Given the description of an element on the screen output the (x, y) to click on. 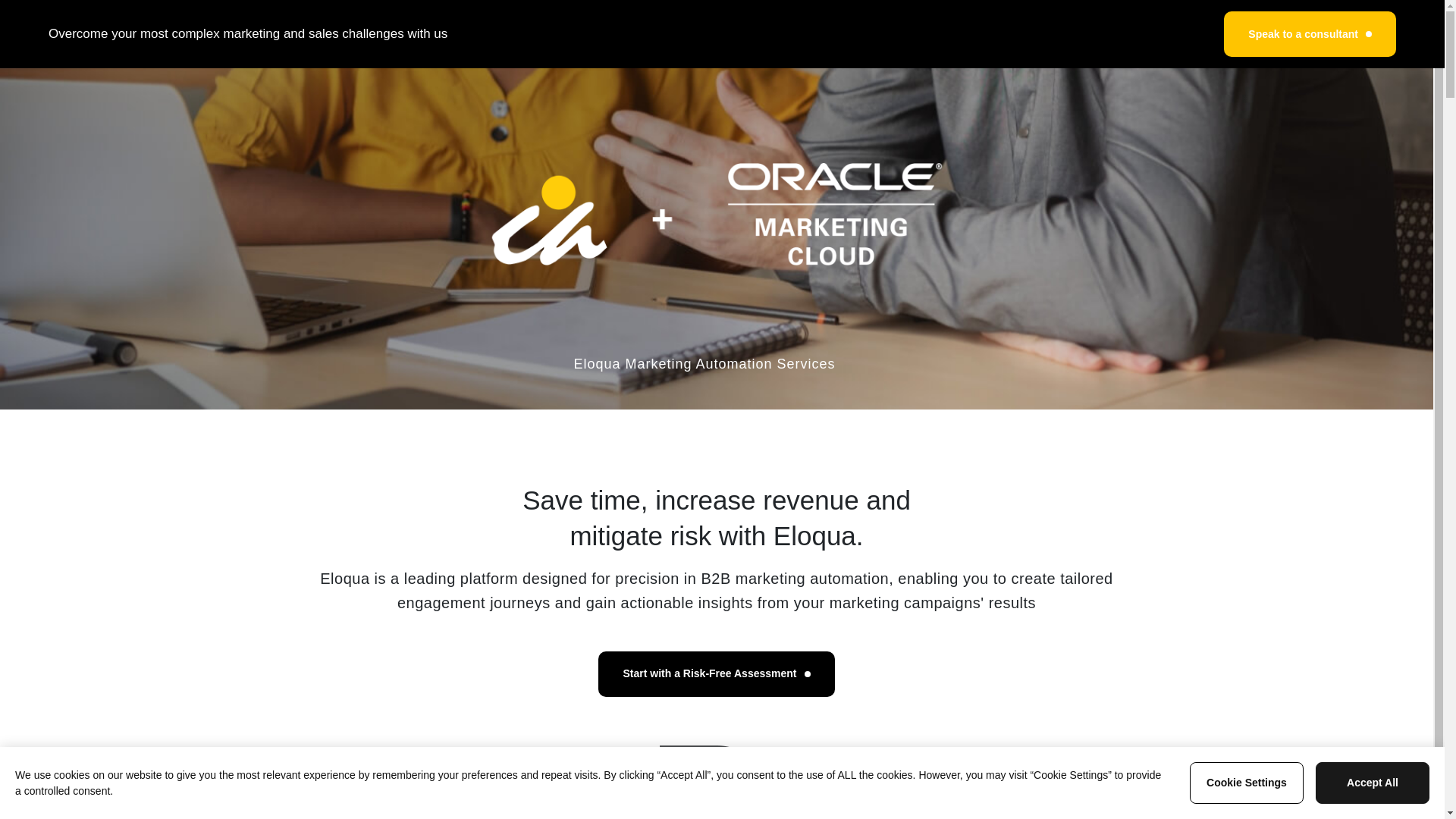
Cookie Settings (1246, 782)
Accept All (1372, 782)
Speak to a consultant (1310, 33)
Start with a Risk-Free Assessment (716, 673)
